Given the description of an element on the screen output the (x, y) to click on. 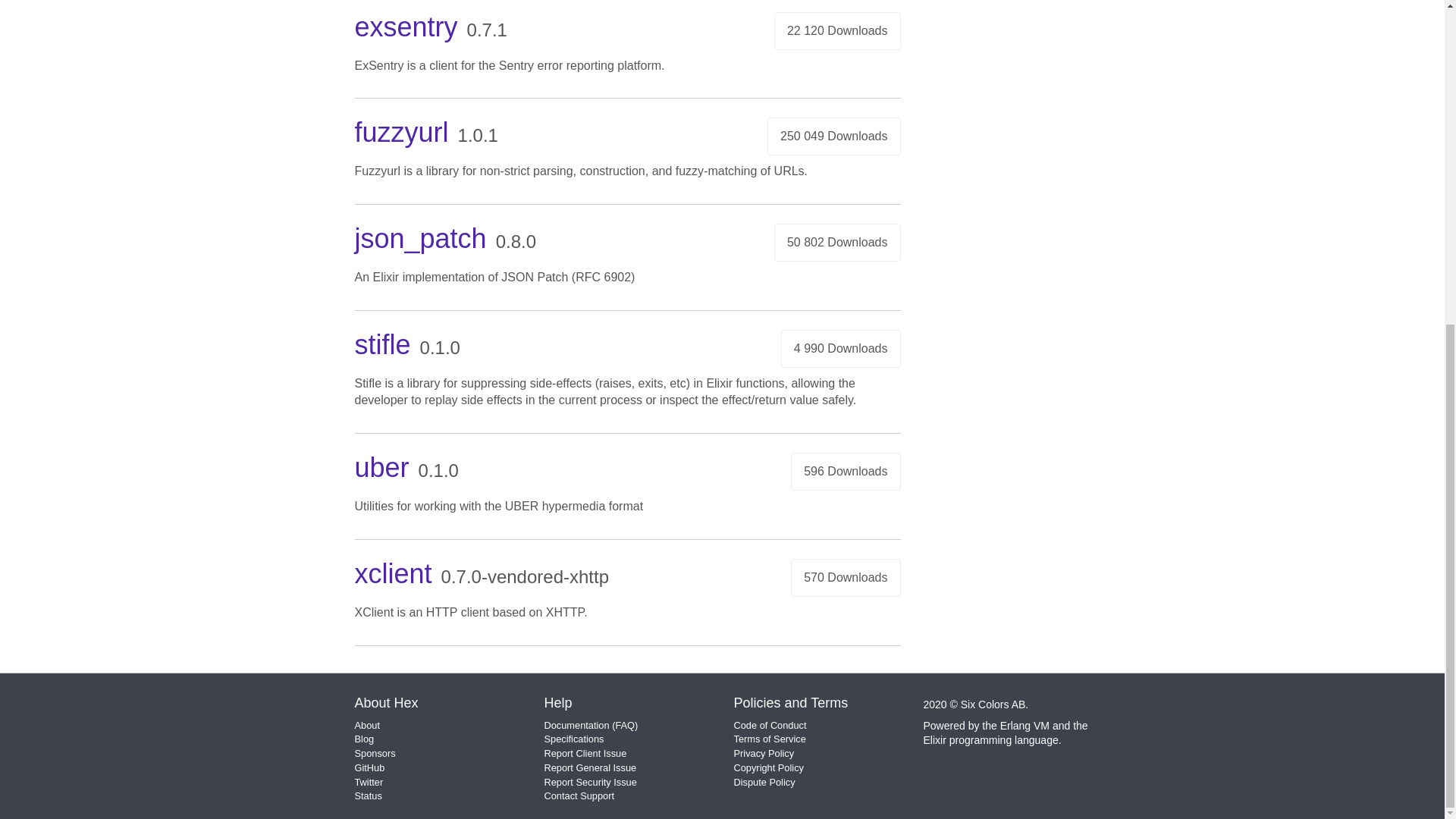
FAQ (624, 725)
About (367, 725)
Terms of Service (769, 738)
Blog (364, 738)
exsentry (406, 26)
Documentation (577, 725)
Code of Conduct (769, 725)
Privacy Policy (763, 753)
GitHub (370, 767)
Copyright Policy (768, 767)
uber (382, 467)
Twitter (369, 781)
Dispute Policy (763, 781)
Report Security Issue (590, 781)
Erlang VM (1024, 725)
